Given the description of an element on the screen output the (x, y) to click on. 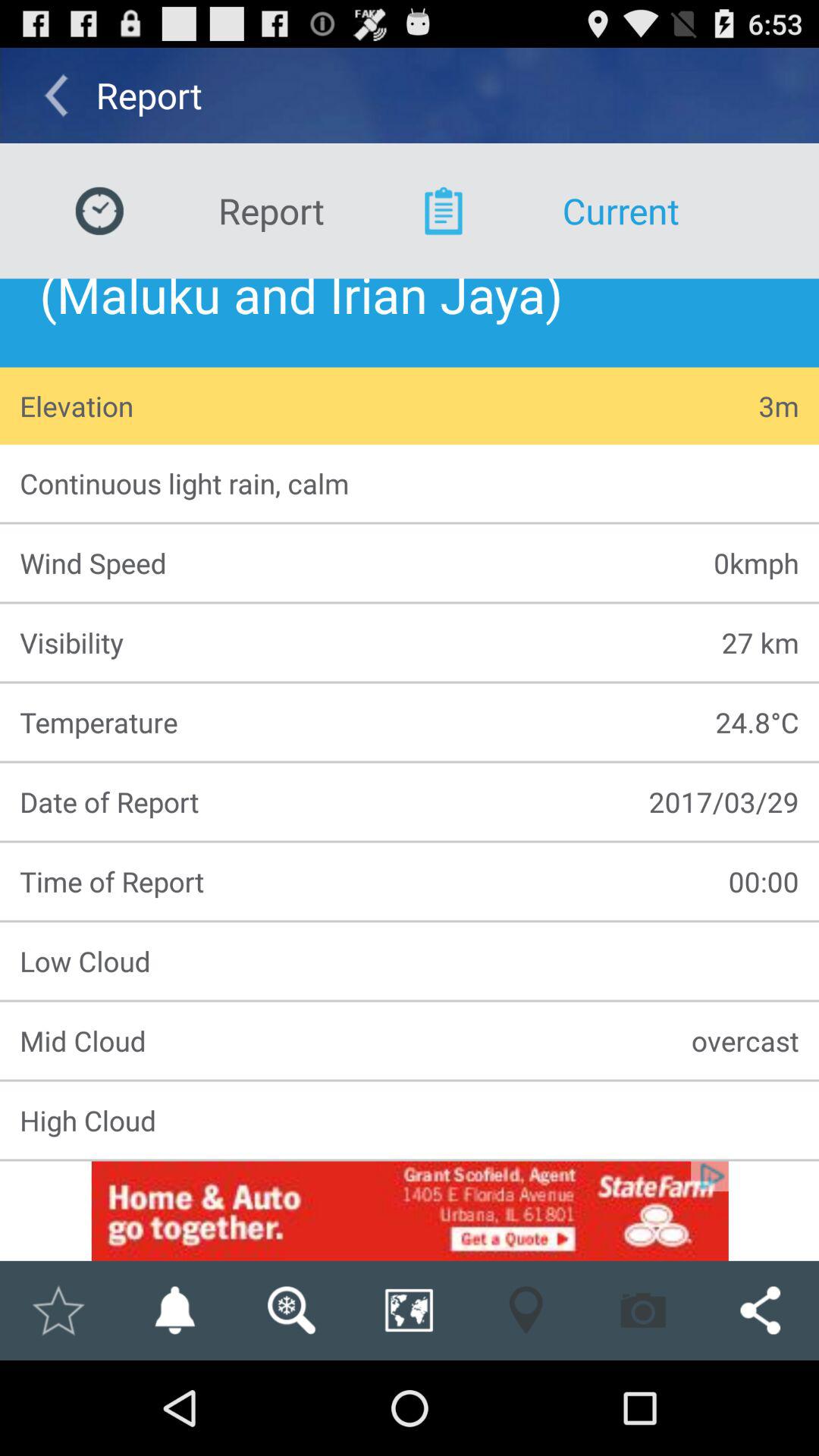
favorite the option (58, 1310)
